Given the description of an element on the screen output the (x, y) to click on. 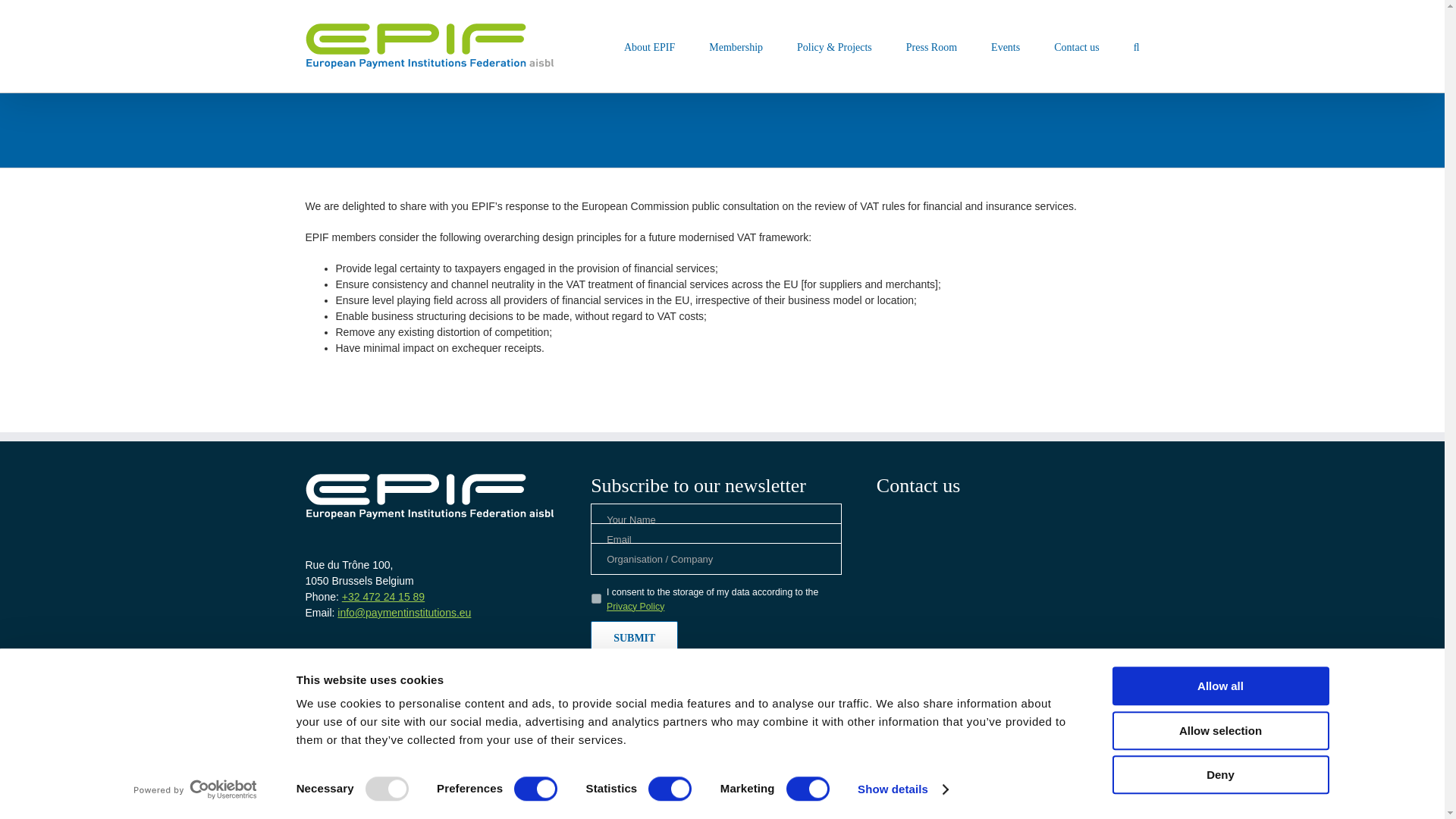
Submit (634, 637)
Allow selection (1219, 730)
Allow all (1219, 685)
